Given the description of an element on the screen output the (x, y) to click on. 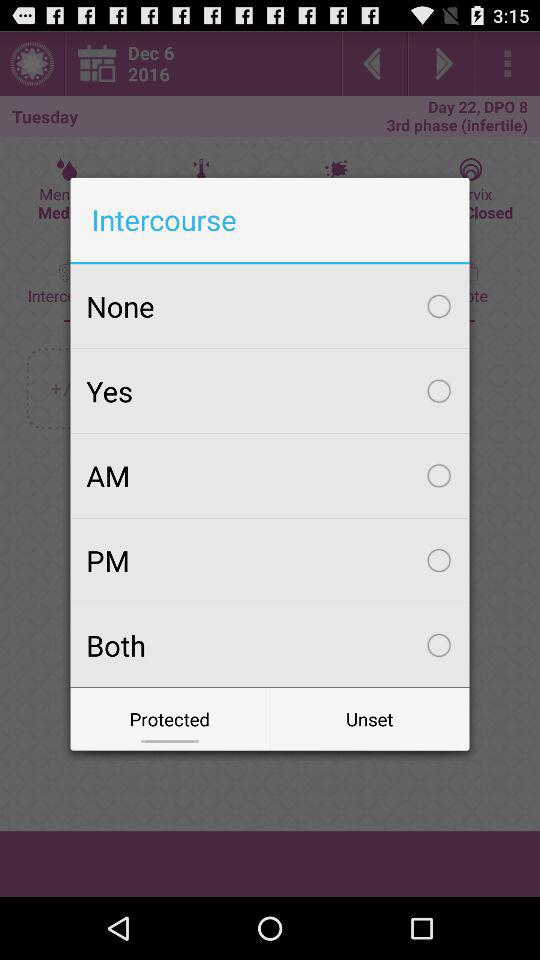
turn on the checkbox above the yes item (269, 306)
